Given the description of an element on the screen output the (x, y) to click on. 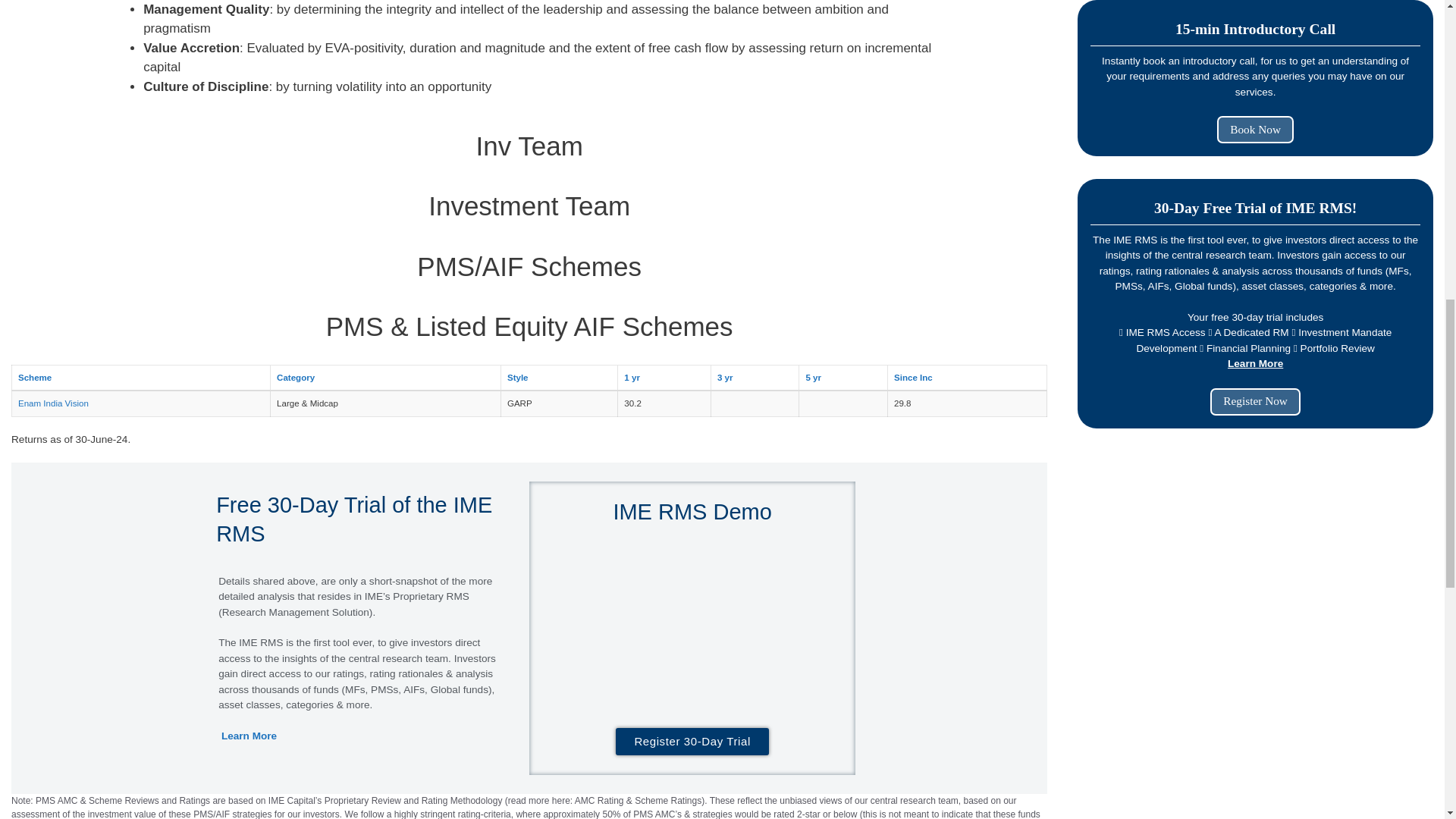
Scheme (33, 377)
Since Inc (913, 377)
1 yr (632, 377)
Style (517, 377)
Register 30-Day Trial (691, 741)
5 yr (813, 377)
Learn More (248, 736)
3 yr (725, 377)
Category (295, 377)
Enam India Vision (52, 402)
